Given the description of an element on the screen output the (x, y) to click on. 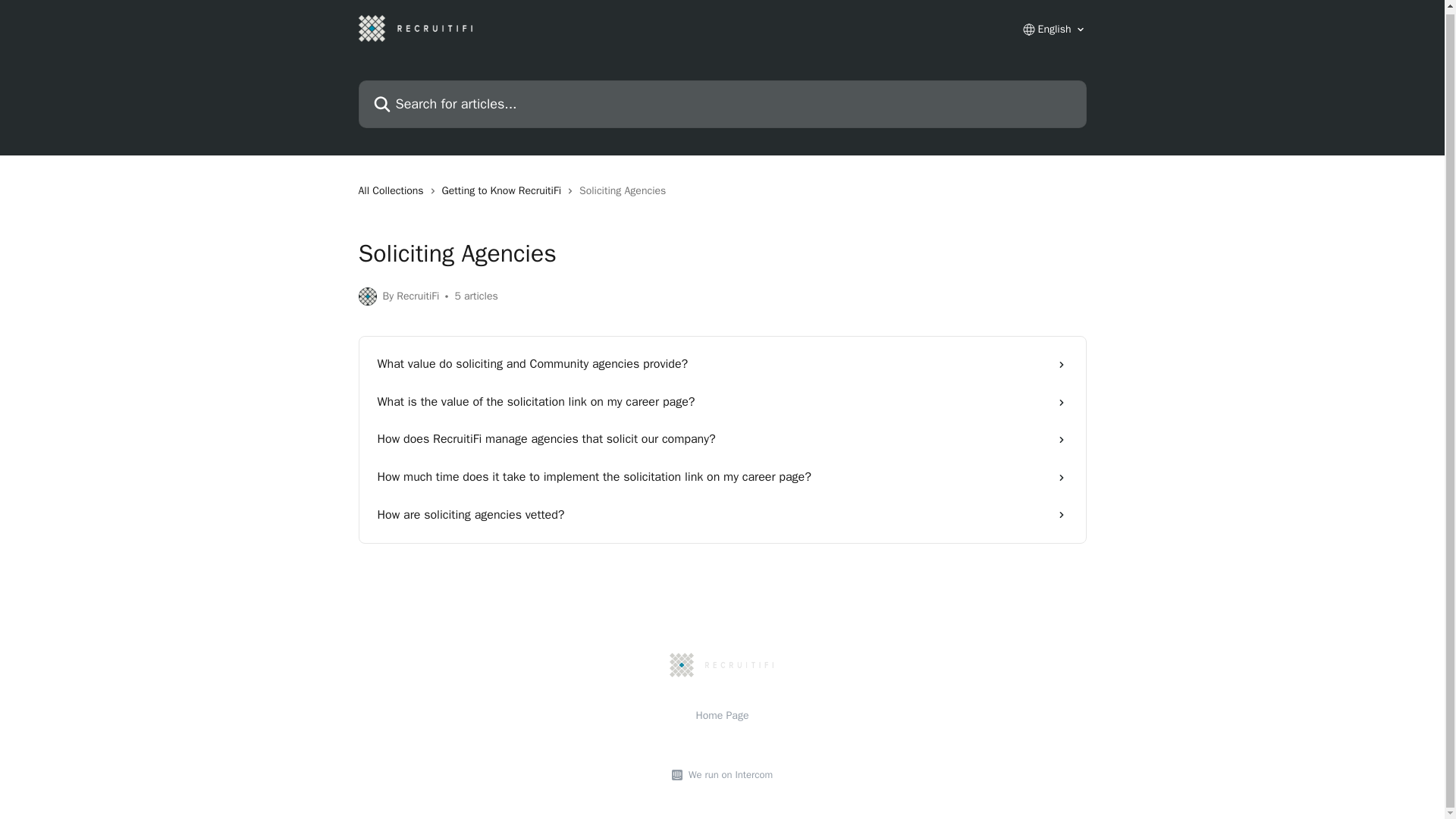
Getting to Know RecruitiFi (504, 190)
Home Page (722, 715)
We run on Intercom (727, 774)
How are soliciting agencies vetted? (722, 515)
What value do soliciting and Community agencies provide? (722, 364)
All Collections (393, 190)
